Given the description of an element on the screen output the (x, y) to click on. 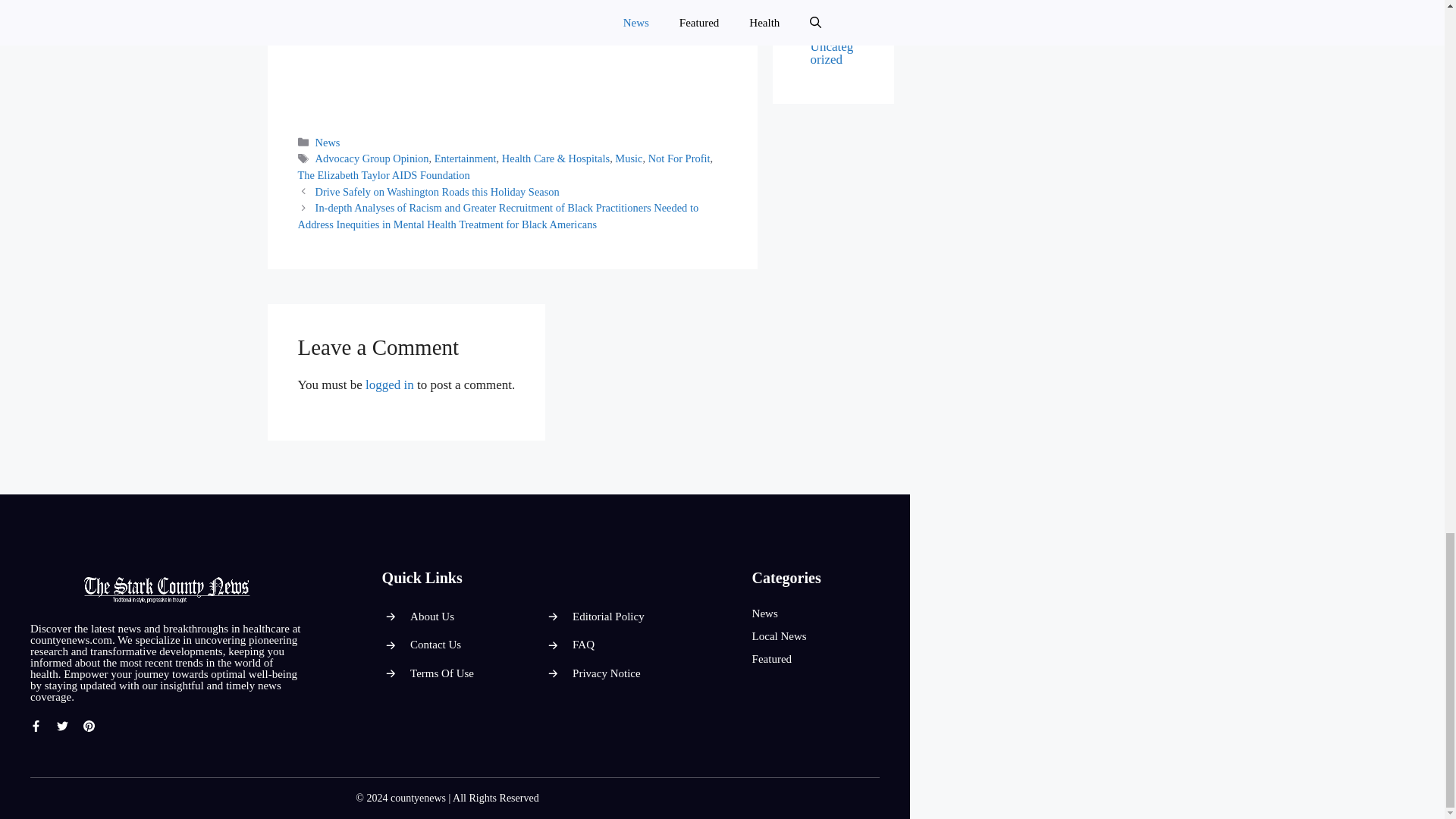
logo-2-2 (166, 589)
Drive Safely on Washington Roads this Holiday Season (437, 191)
Advocacy Group Opinion (372, 158)
Partner Content (830, 1)
About Us (432, 616)
Music (628, 158)
News (327, 142)
logged in (389, 384)
Editorial Policy (608, 616)
